Given the description of an element on the screen output the (x, y) to click on. 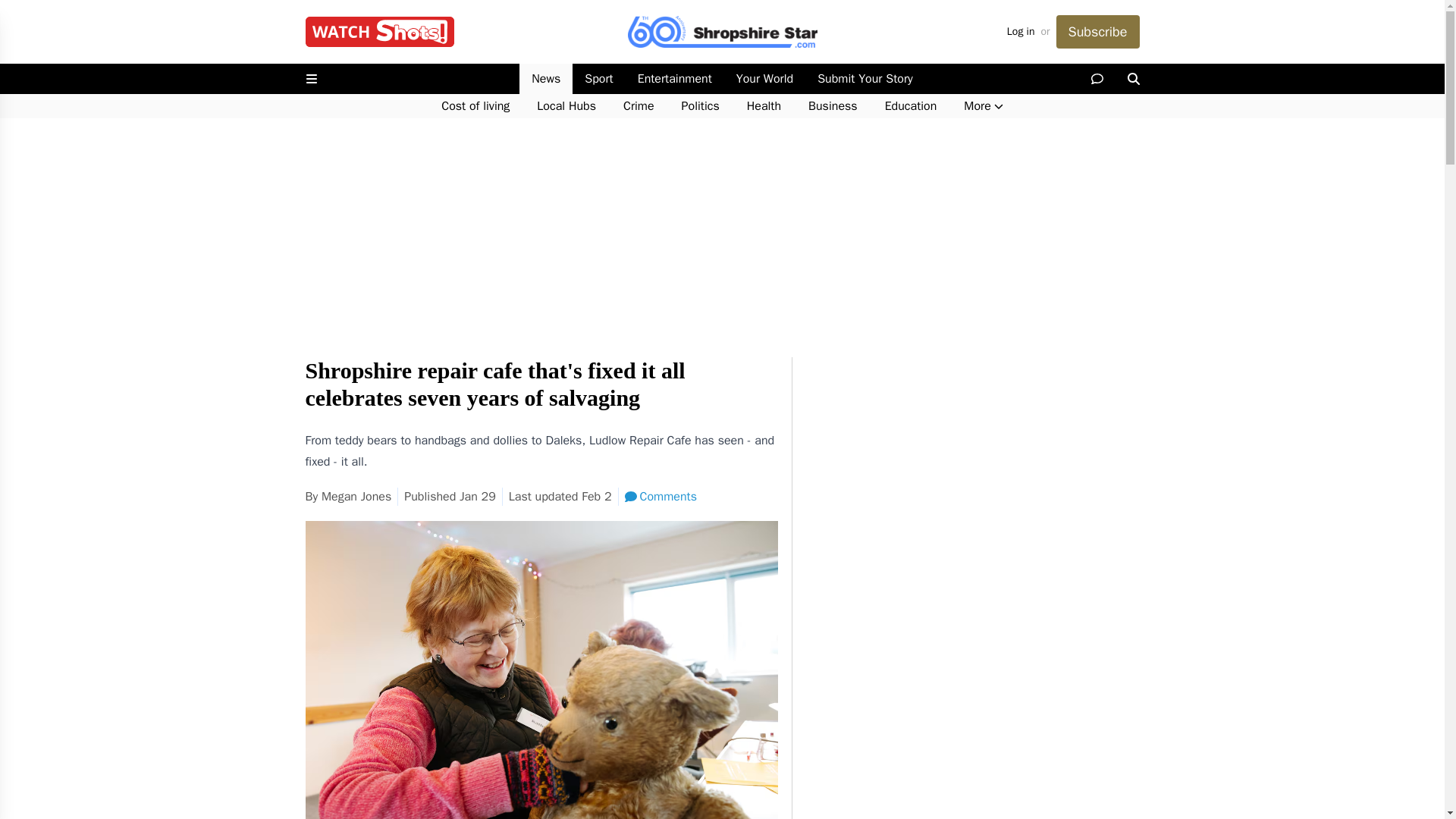
Education (910, 105)
Health (764, 105)
Sport (598, 78)
Crime (638, 105)
Log in (1021, 31)
Subscribe (1096, 31)
Politics (700, 105)
Cost of living (475, 105)
Your World (764, 78)
More (983, 105)
Local Hubs (566, 105)
Submit Your Story (864, 78)
News (545, 78)
Business (832, 105)
Entertainment (674, 78)
